Given the description of an element on the screen output the (x, y) to click on. 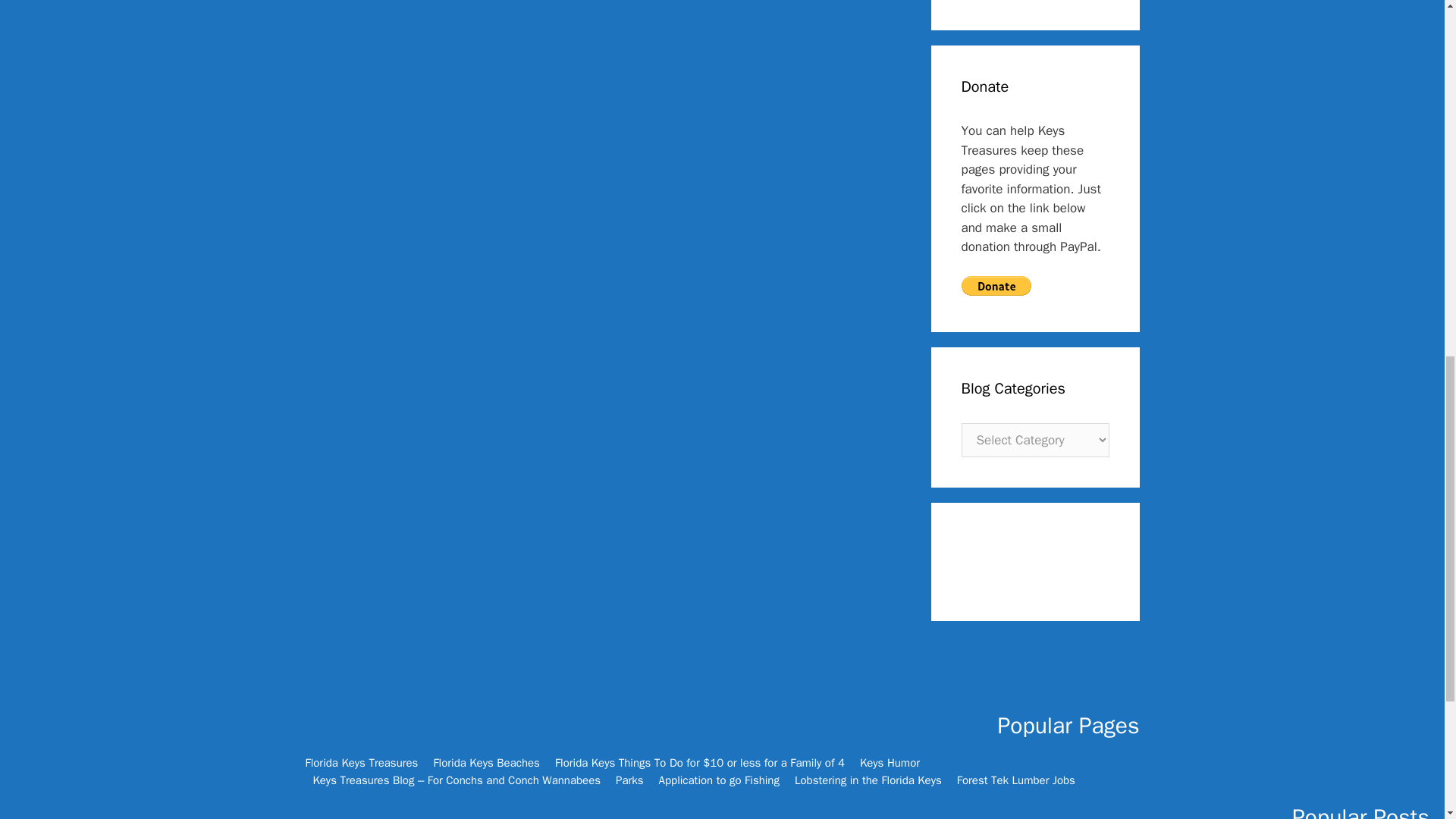
Keys Humor (890, 762)
Application to go Fishing (718, 780)
Lobstering in the Florida Keys (868, 780)
Scroll back to top (1406, 720)
Florida Keys Beaches (486, 762)
Forest Tek Lumber Jobs (1015, 780)
Florida Keys Treasures (360, 762)
Parks (629, 780)
